Given the description of an element on the screen output the (x, y) to click on. 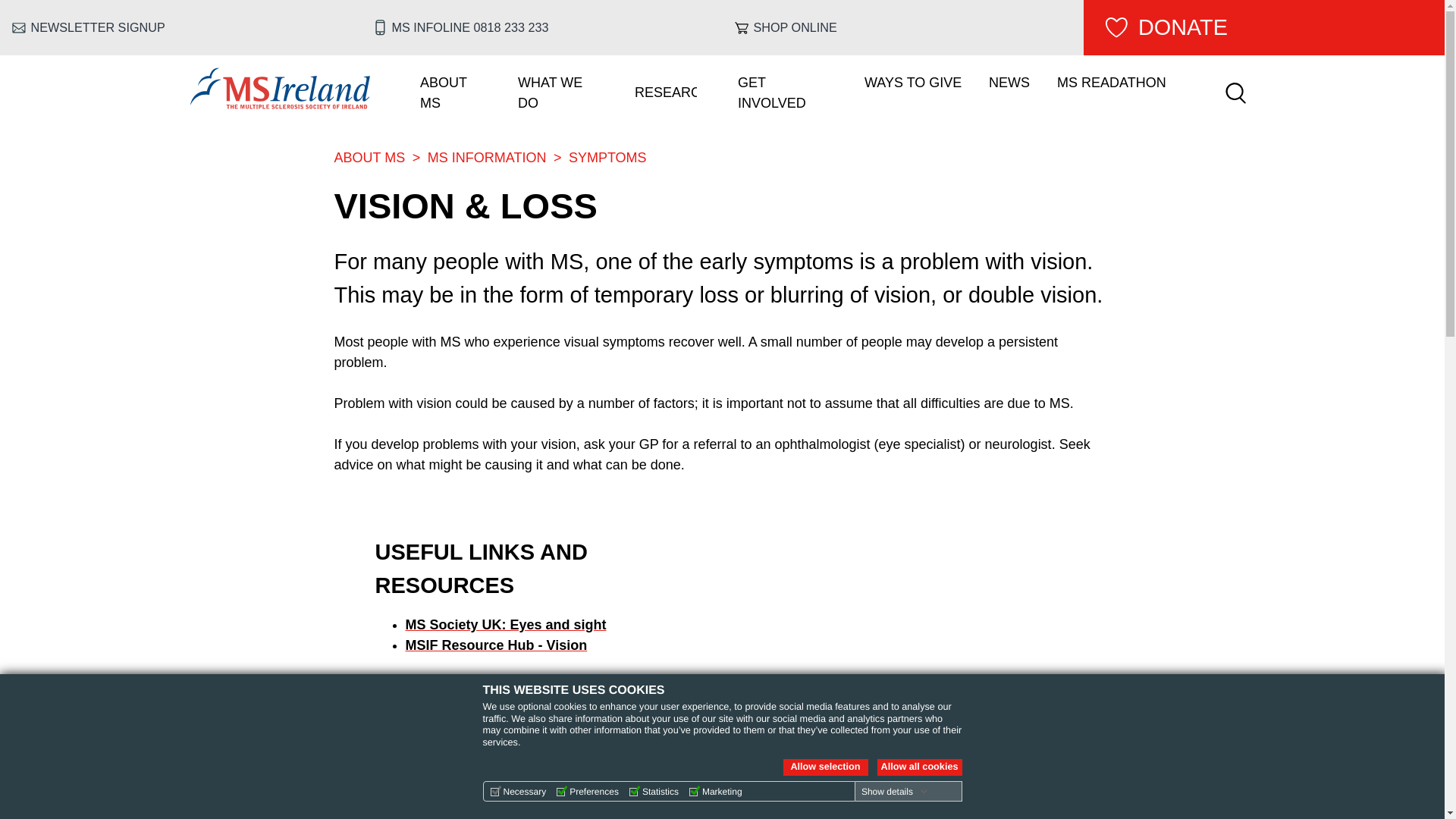
Show details (895, 791)
Search (1234, 93)
Allow selection (825, 767)
Allow all cookies (918, 767)
